Given the description of an element on the screen output the (x, y) to click on. 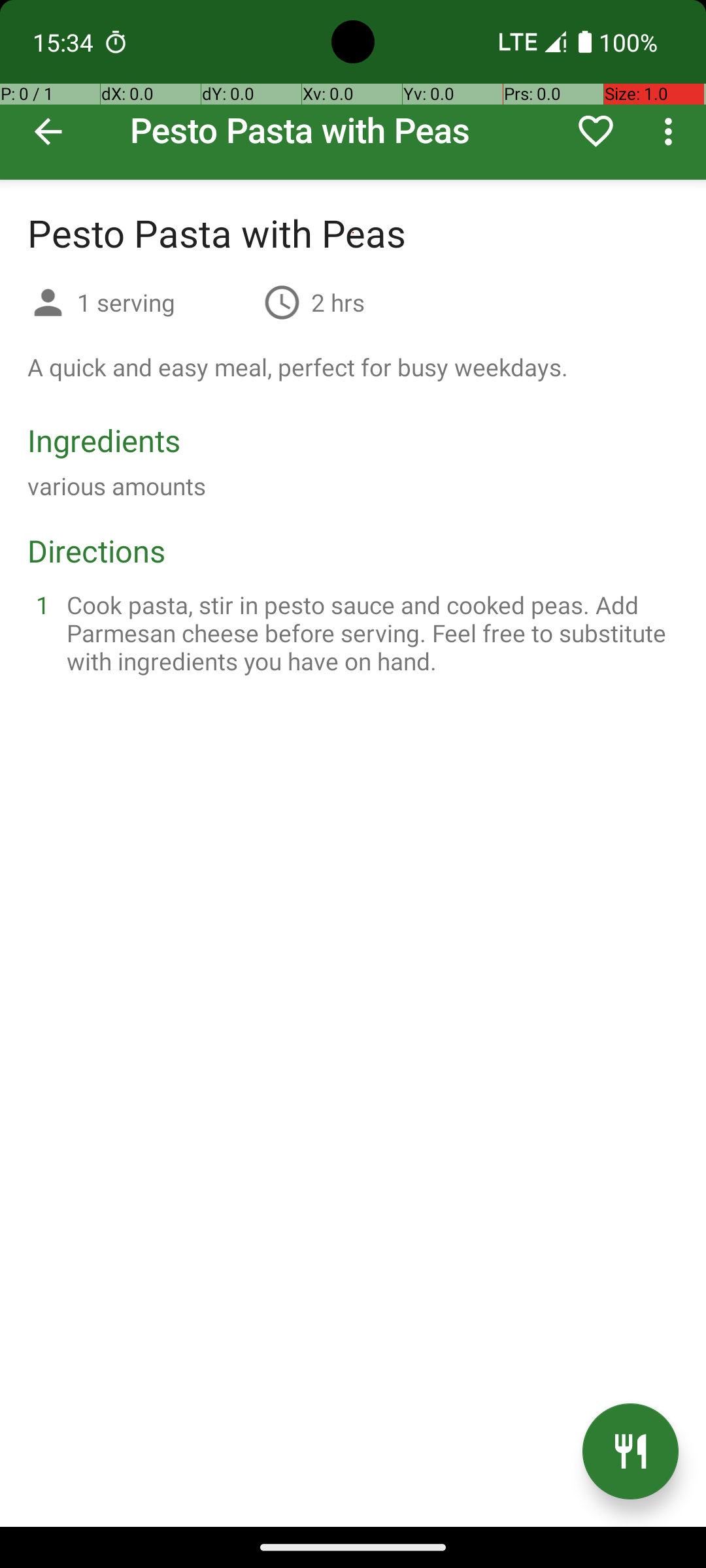
Cook pasta, stir in pesto sauce and cooked peas. Add Parmesan cheese before serving. Feel free to substitute with ingredients you have on hand. Element type: android.widget.TextView (368, 632)
